Given the description of an element on the screen output the (x, y) to click on. 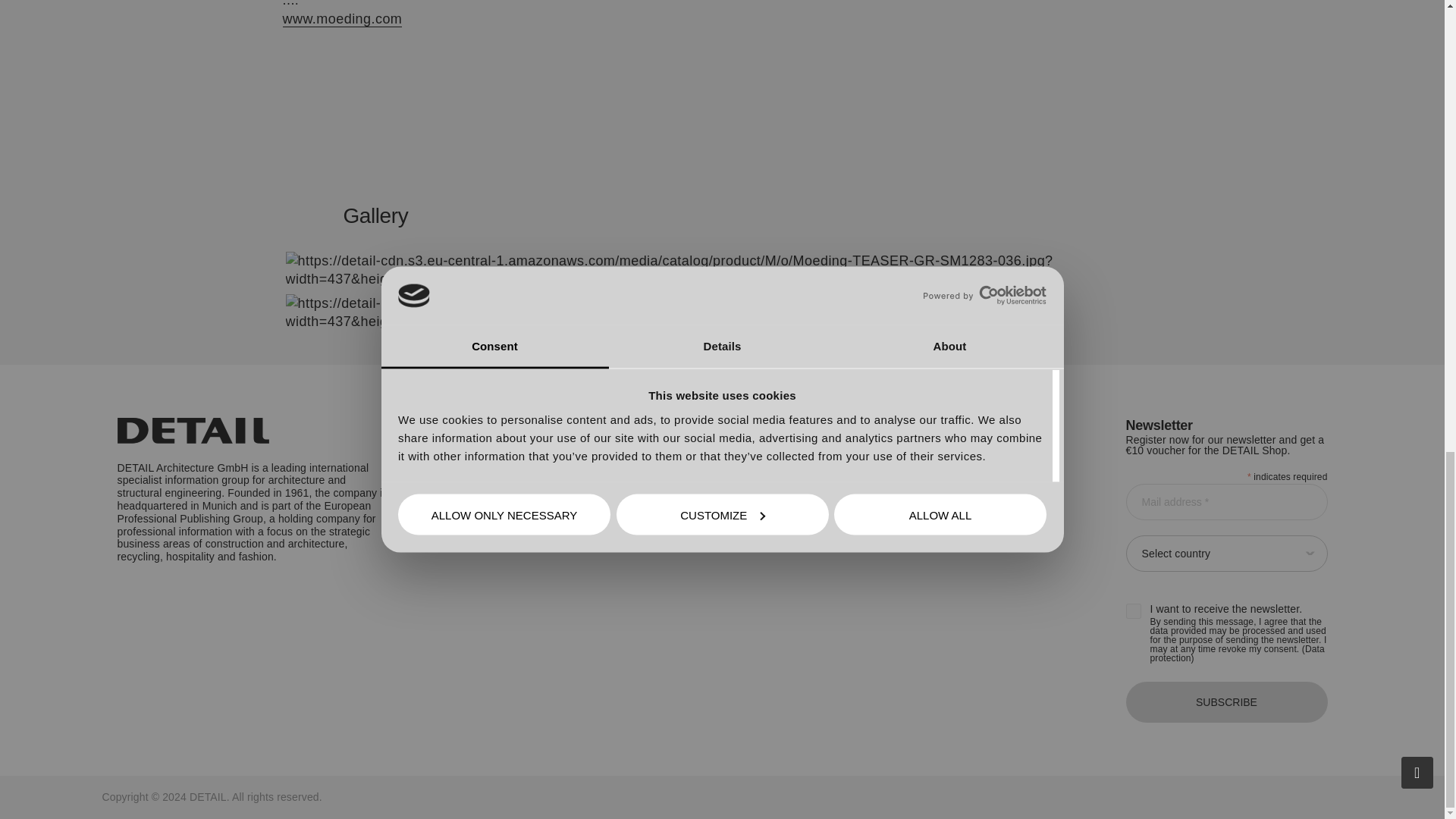
on (1132, 611)
SUBSCRIBE (1225, 701)
